Given the description of an element on the screen output the (x, y) to click on. 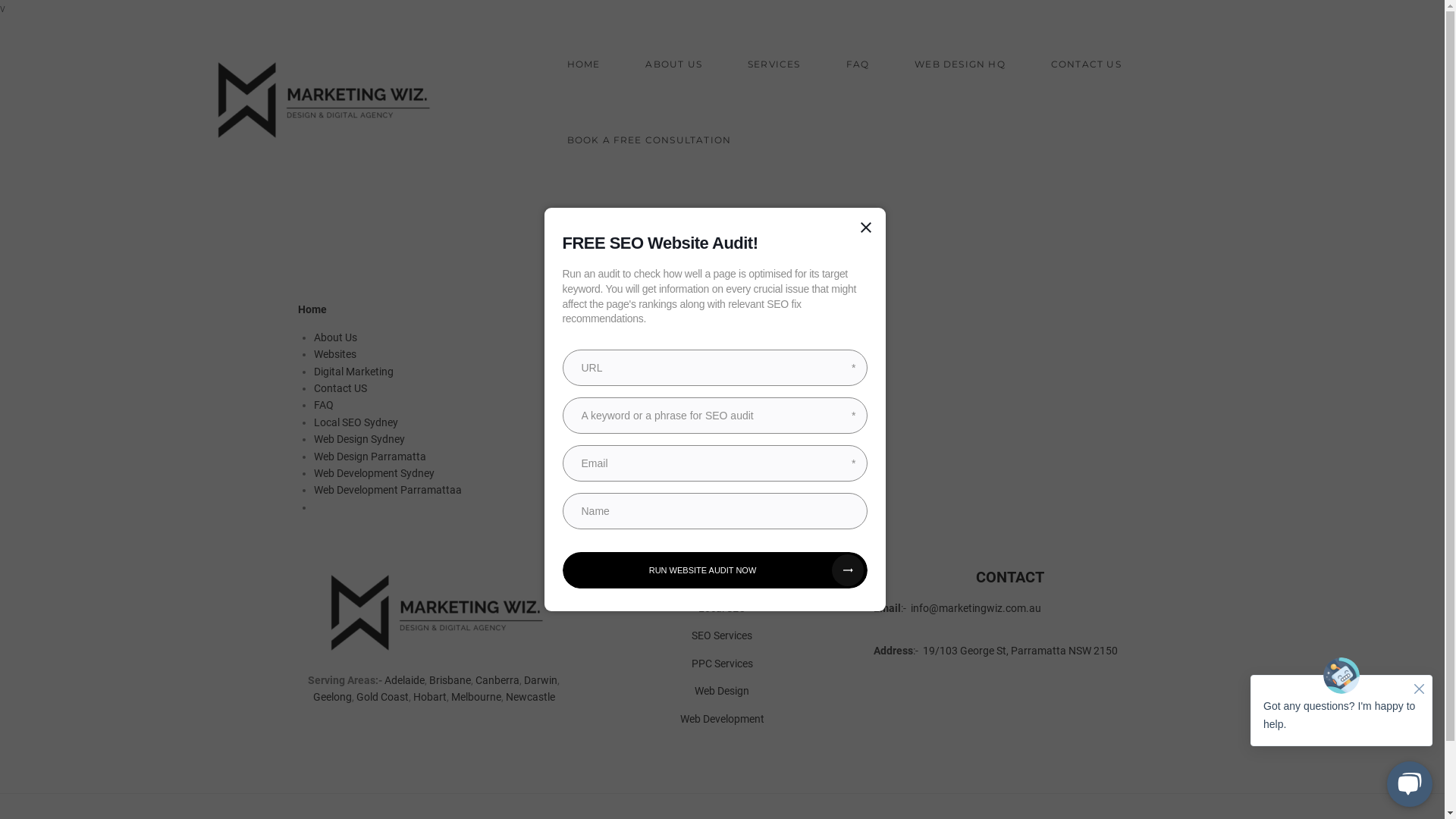
BOOK A FREE CONSULTATION Element type: text (649, 130)
SEO Services Element type: text (721, 635)
Contact US Element type: text (340, 388)
19/103 George St, Parramatta NSW 2150 Element type: text (1019, 650)
Web Design Element type: text (721, 690)
ABOUT US Element type: text (673, 54)
Melbourne Element type: text (476, 696)
Web Development Element type: text (722, 718)
Adelaide Element type: text (404, 680)
SERVICES Element type: text (773, 54)
Web Design Parramatta Element type: text (369, 456)
Digital Marketing Element type: text (353, 371)
About Us Element type: text (335, 337)
FAQ Element type: text (323, 404)
CONTACT US Element type: text (1086, 54)
HOME Element type: text (583, 54)
Web Development Sydney Element type: text (373, 473)
Local SEO Sydney Element type: text (355, 422)
Geelong Element type: text (332, 696)
Brisbane Element type: text (449, 680)
Web Development Parramattaa Element type: text (387, 489)
Websites Element type: text (334, 354)
Darwin Element type: text (540, 680)
Newcastle Element type: text (530, 696)
Canberra Element type: text (497, 680)
WEB DESIGN HQ Element type: text (959, 54)
Web Design Sydney Element type: text (358, 439)
Local SEO Element type: text (722, 608)
Hobart Element type: text (429, 696)
FAQ Element type: text (857, 54)
Home Element type: text (311, 309)
info@marketingwiz.com.au Element type: text (975, 608)
Gold Coast Element type: text (382, 696)
PPC Services Element type: text (722, 663)
